Given the description of an element on the screen output the (x, y) to click on. 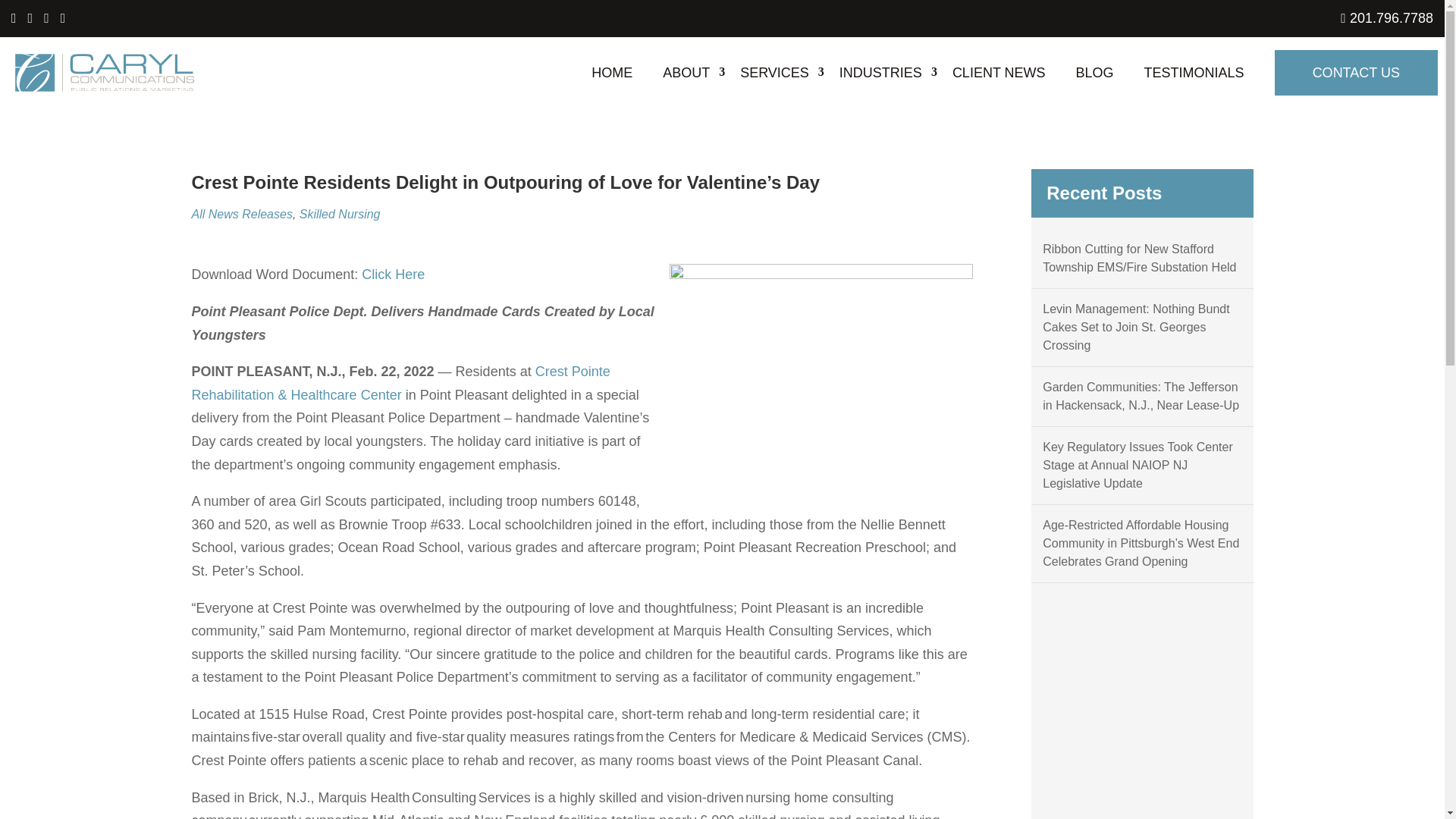
SERVICES (774, 72)
201.796.7788 (1386, 17)
Caryl-logo (104, 73)
CLIENT NEWS (998, 72)
INDUSTRIES (880, 72)
TESTIMONIALS (1194, 72)
Skilled Nursing (339, 214)
All News Releases (241, 214)
Click Here (393, 273)
CONTACT US (1356, 72)
